Given the description of an element on the screen output the (x, y) to click on. 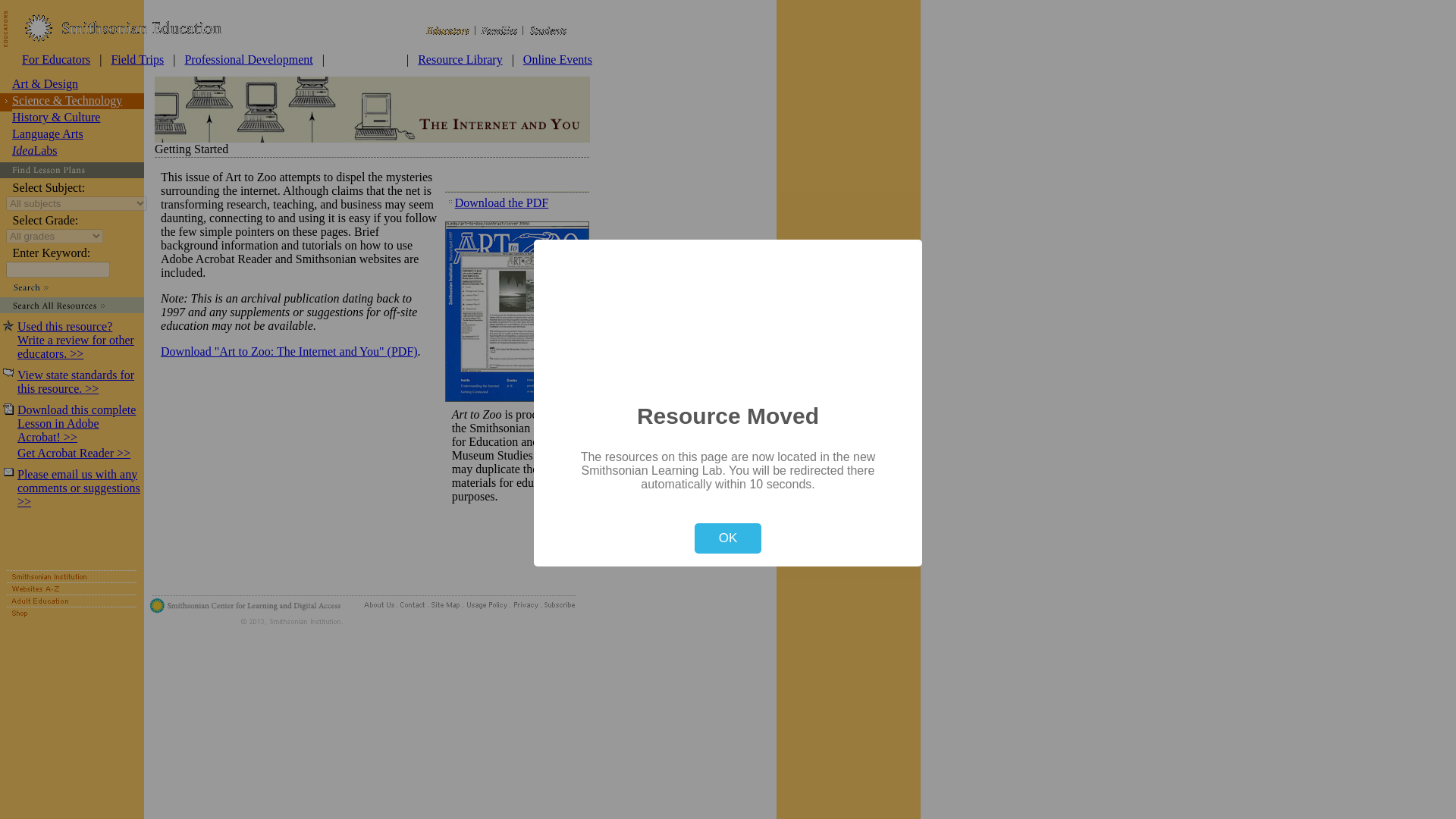
Workshops, Seminars, and Events for Educators (248, 59)
Smithsonian Online Events for Educators and Students (557, 59)
Lesson Plans (365, 59)
For Educators (55, 59)
OK (727, 538)
Resource Library (459, 59)
Language Arts (46, 133)
Smithsonian Lesson Plans for Educators (365, 59)
Smithsonian Education Home Page for Educators (55, 59)
Smithsonian Publications and Resources for Educators (459, 59)
IdeaLabs (34, 150)
Field Trips (136, 59)
Information on Visiting the Smithsonian with Students (136, 59)
Online Events (557, 59)
Professional Development (248, 59)
